Given the description of an element on the screen output the (x, y) to click on. 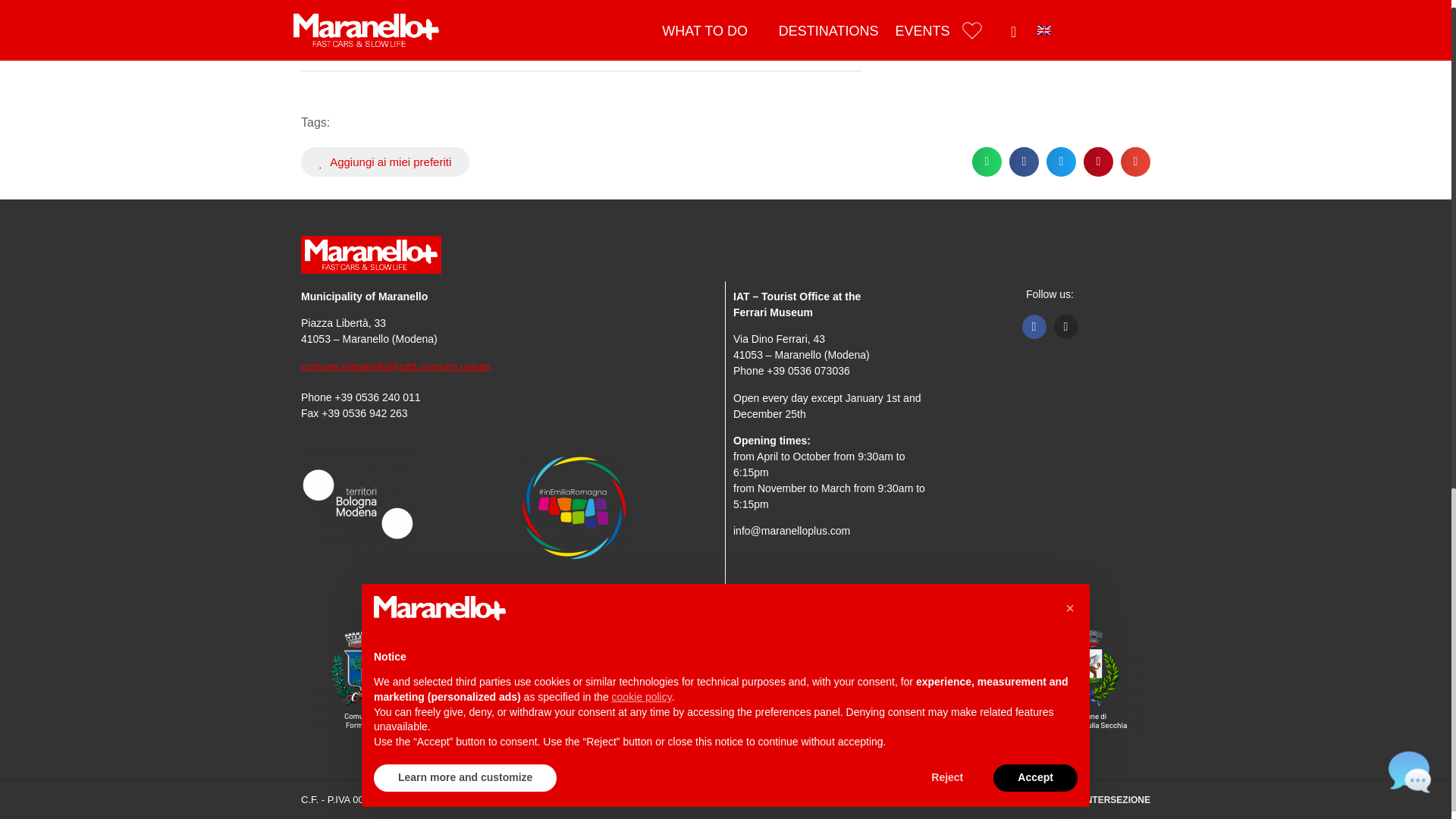
Privacy Policy (452, 799)
Cookie Policy  (521, 799)
Aggiungi ai miei preferiti (384, 161)
